Given the description of an element on the screen output the (x, y) to click on. 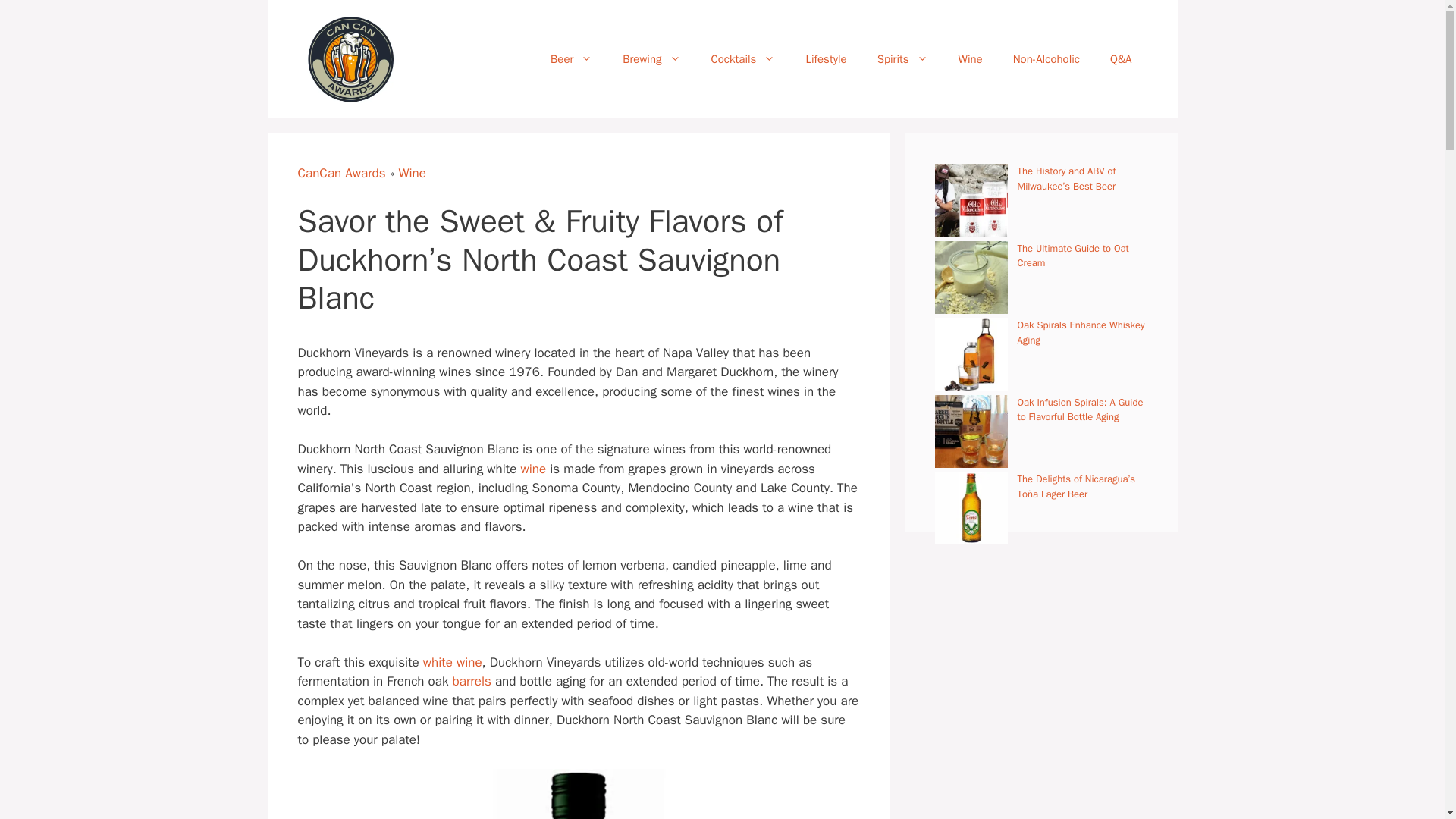
Spirits (902, 58)
Wine (970, 58)
Cocktails (742, 58)
The History and ABV of Milwaukee's Best Beer 2 (970, 199)
Lifestyle (825, 58)
Non-Alcoholic (1045, 58)
Beer (571, 58)
Oak Infusion Spirals: A Guide to Flavorful Bottle Aging 5 (970, 430)
The Ultimate Guide to Oat Cream 3 (970, 276)
Brewing (651, 58)
Oak Spirals Enhance Whiskey Aging 4 (970, 353)
